Given the description of an element on the screen output the (x, y) to click on. 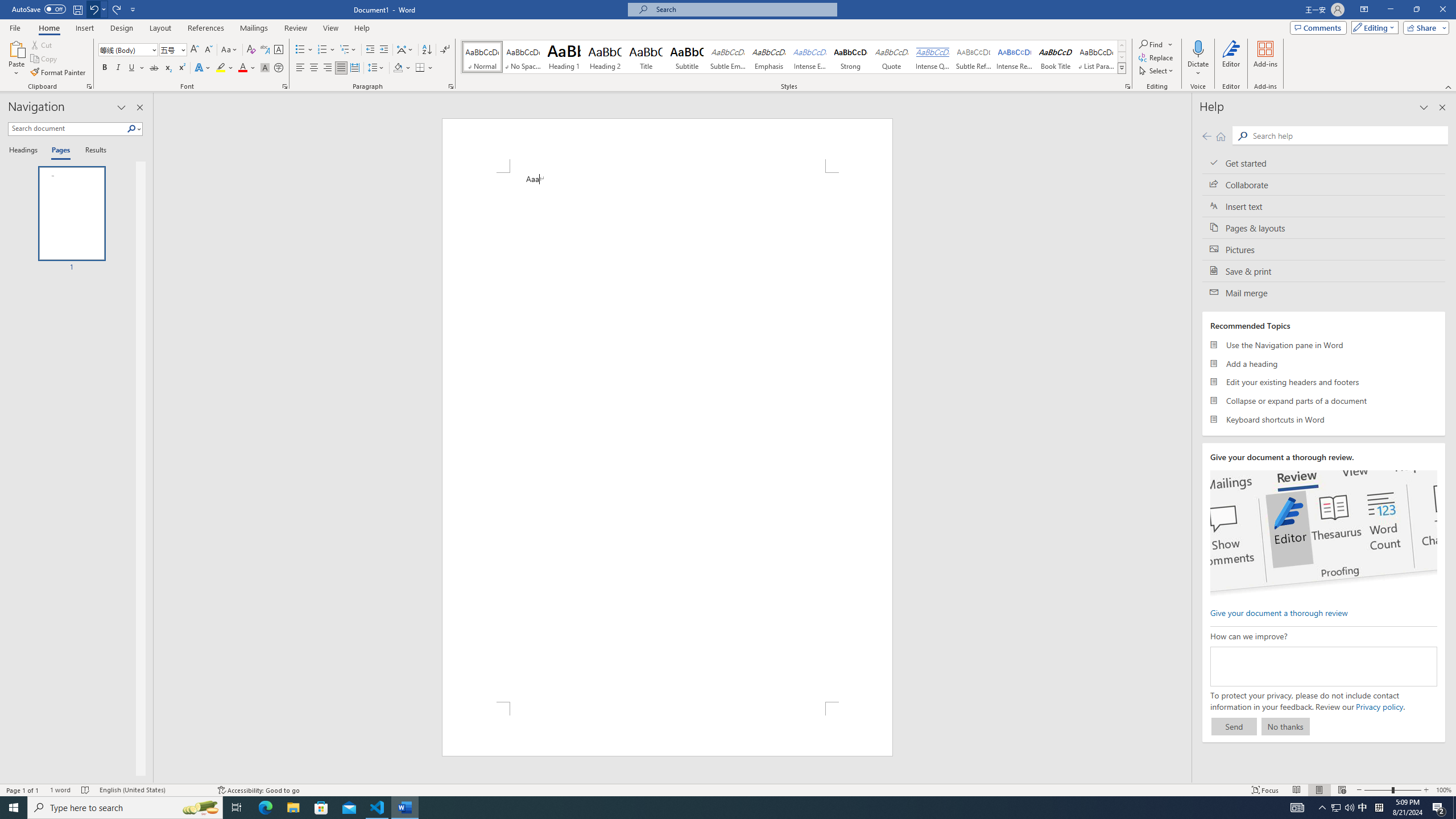
Borders (419, 67)
Class: NetUIScrollBar (1186, 437)
Editor (1231, 58)
Help (361, 28)
Title (646, 56)
Phonetic Guide... (264, 49)
Strikethrough (154, 67)
Paragraph... (450, 85)
Justify (340, 67)
Heading 1 (564, 56)
Strong (849, 56)
Collaborate (1323, 184)
Enclose Characters... (278, 67)
Paste (16, 48)
Show/Hide Editing Marks (444, 49)
